Given the description of an element on the screen output the (x, y) to click on. 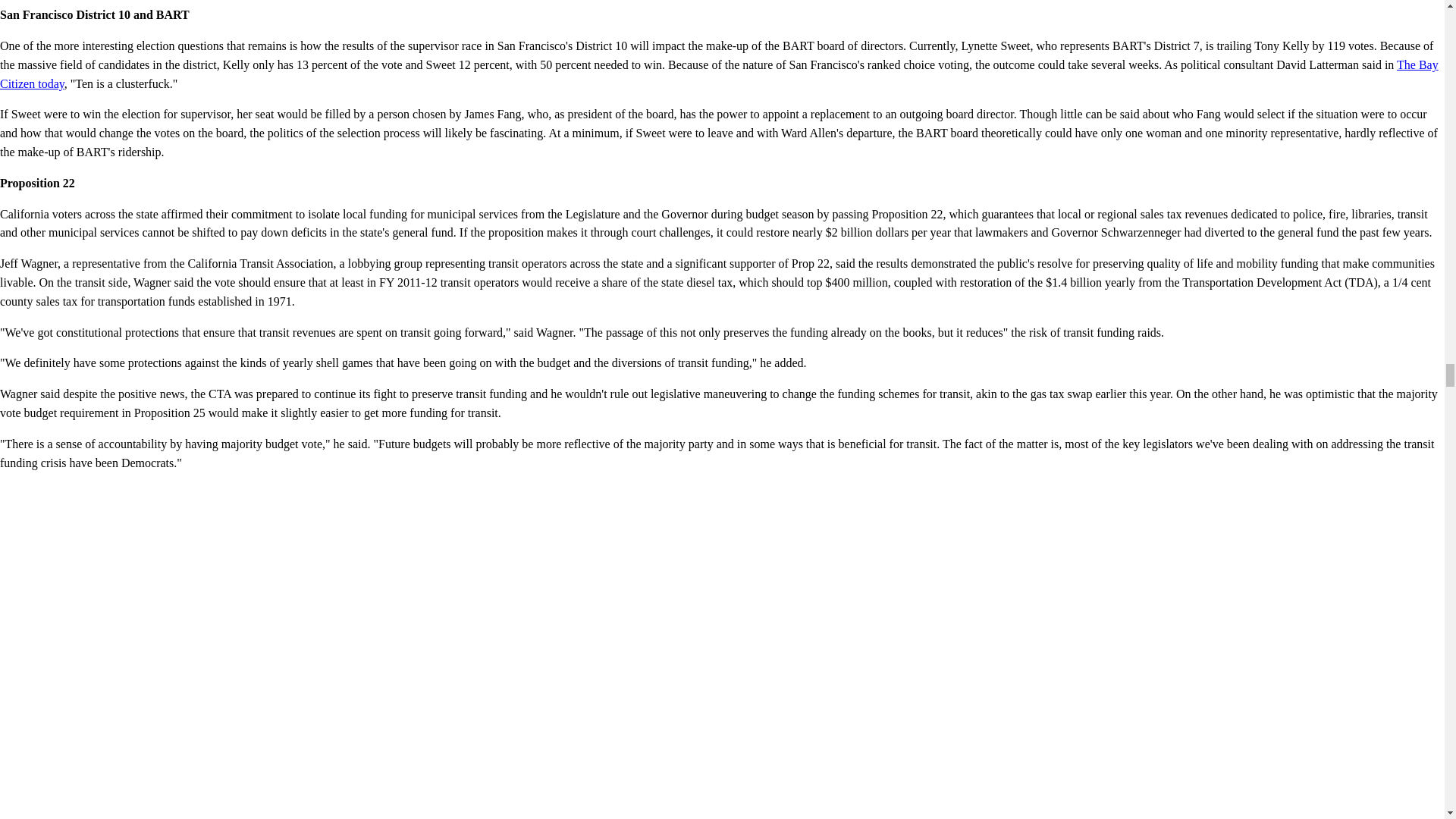
The Bay Citizen today (719, 74)
